Given the description of an element on the screen output the (x, y) to click on. 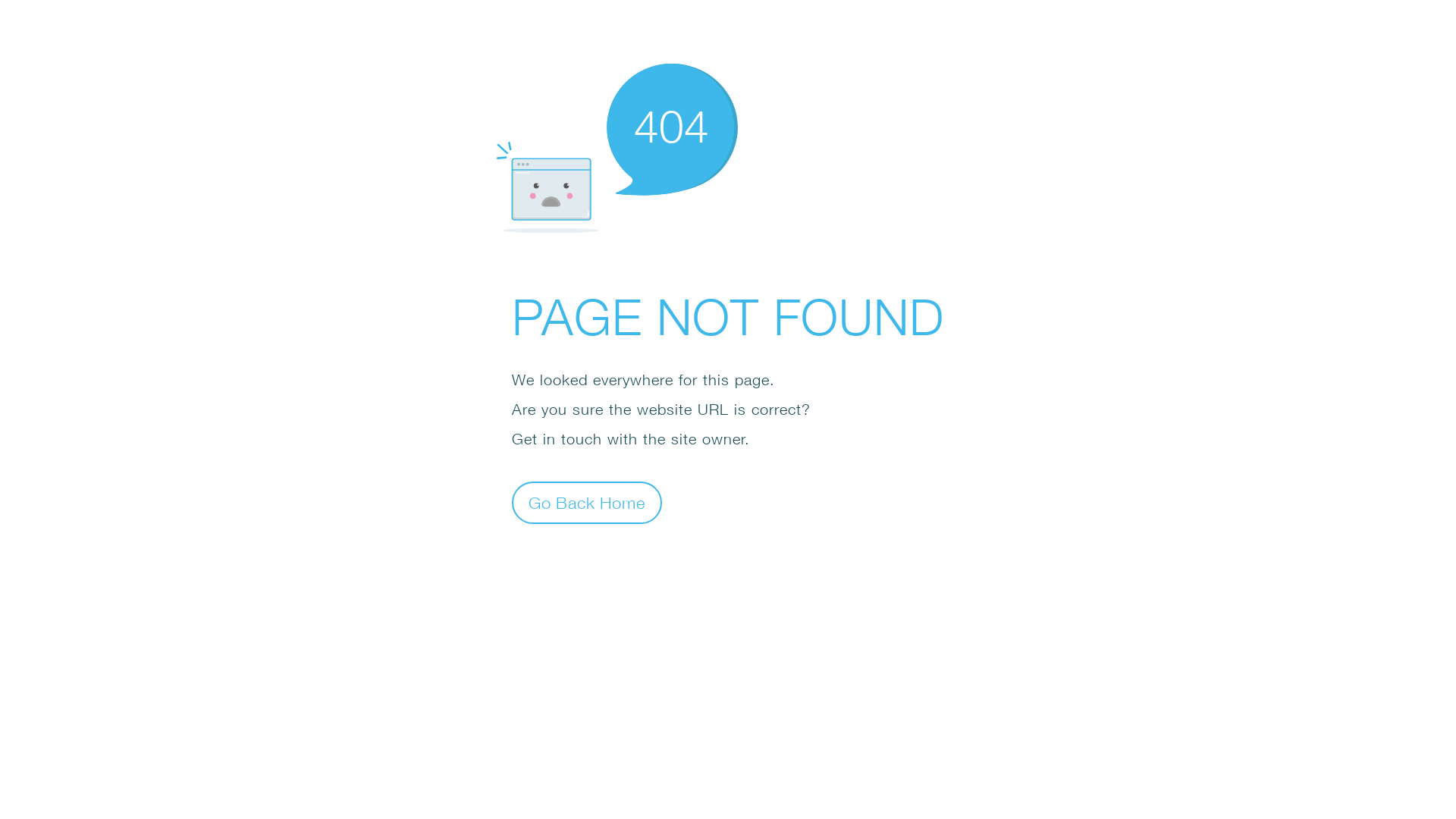
Go Back Home Element type: text (586, 502)
